Given the description of an element on the screen output the (x, y) to click on. 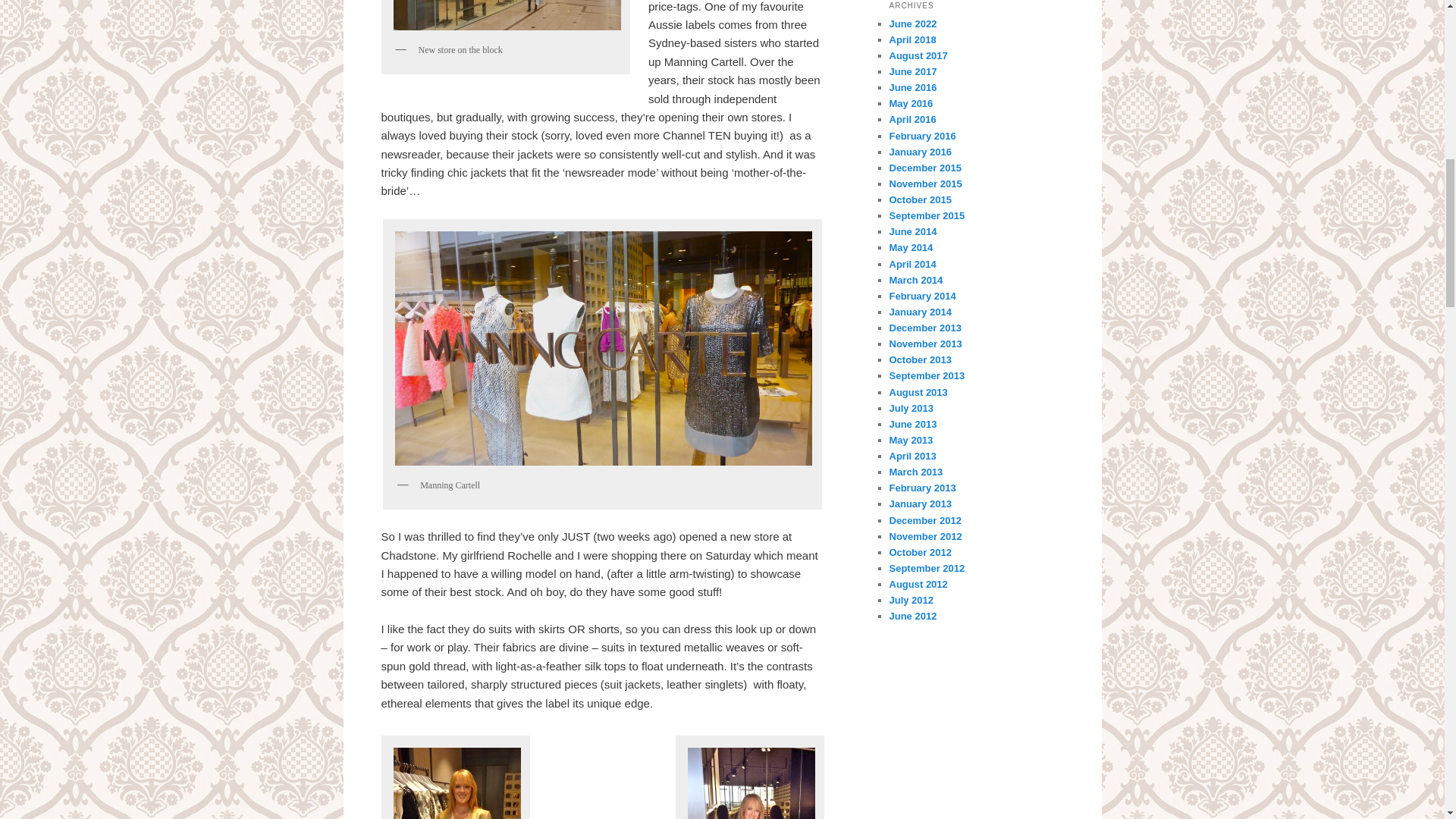
Manning exterior (507, 18)
Rochy rose gold suit (751, 780)
Manning sign c:up (603, 348)
Rochelle gold shorts (456, 780)
